Given the description of an element on the screen output the (x, y) to click on. 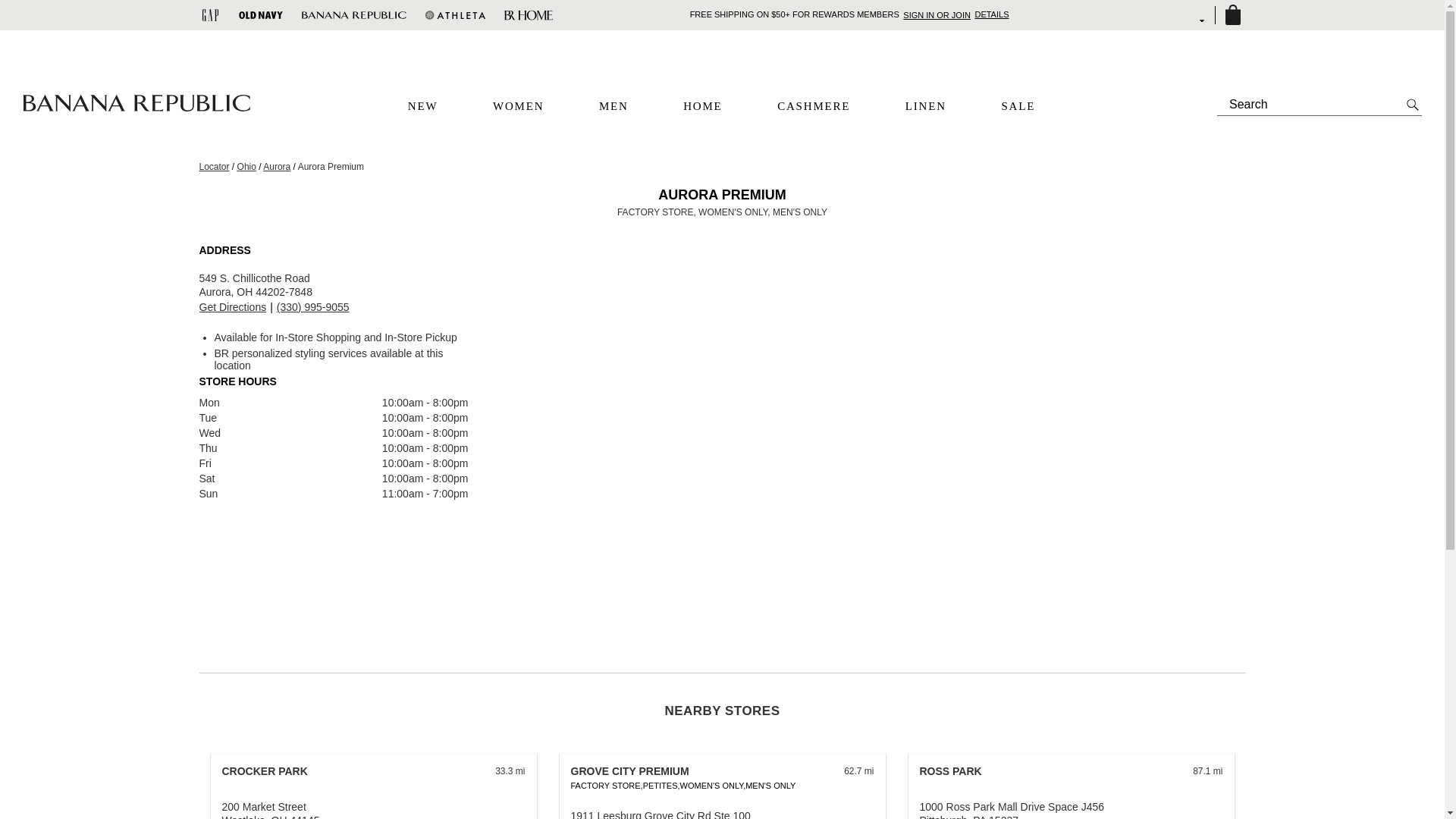
Call the Aurora Premium store (312, 307)
View Details for the Aurora Premium store (232, 307)
NEW (422, 106)
CROCKER PARK (264, 770)
WOMEN (518, 106)
MEN (613, 106)
DETAILS (991, 13)
Get Directions (232, 307)
SALE (1018, 106)
Locator (213, 166)
View Details for the ROSS PARK store (949, 770)
